Given the description of an element on the screen output the (x, y) to click on. 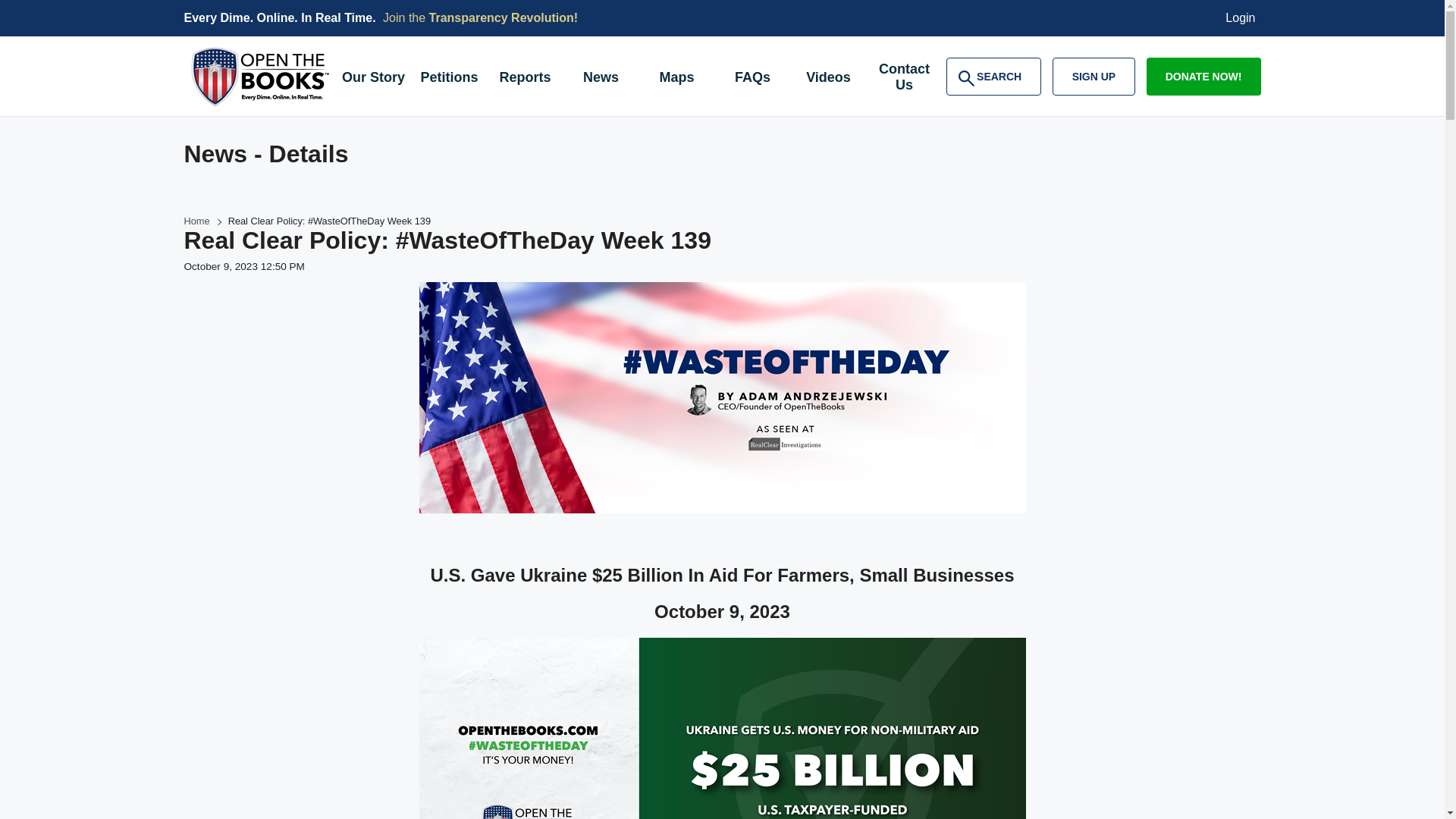
Login (993, 76)
Home (1240, 18)
Contact Us (196, 220)
Our Story (904, 78)
Reports (372, 78)
FAQs (524, 78)
Petitions (752, 78)
News (448, 78)
Transparency Revolution! (600, 78)
SIGN UP (503, 17)
DONATE NOW! (1093, 76)
Maps (1203, 76)
Videos (676, 78)
